Given the description of an element on the screen output the (x, y) to click on. 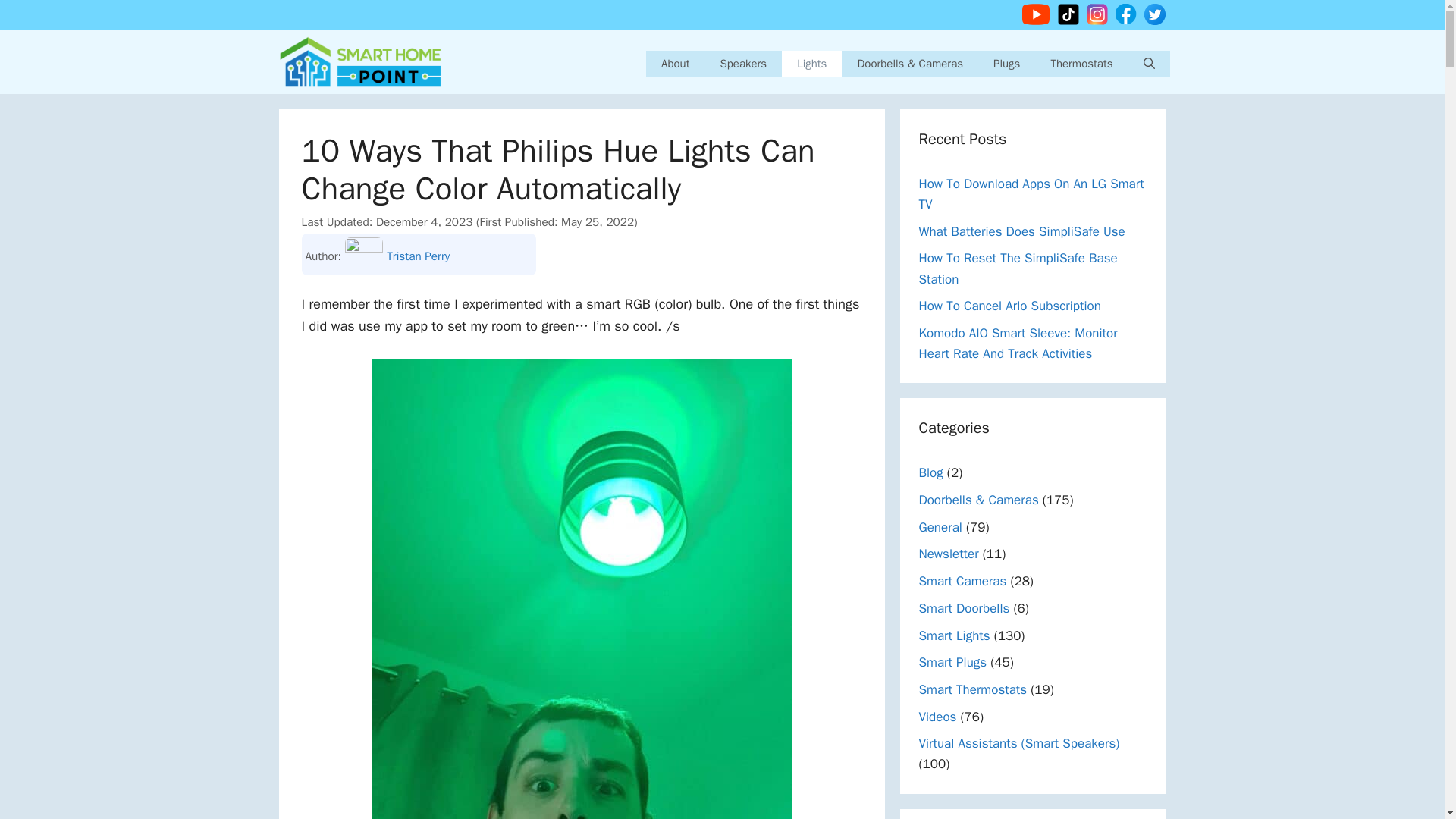
Twitter (1155, 14)
TikTok (1068, 14)
About (675, 63)
View all posts by Tristan Perry (422, 256)
Email Tristan Perry (517, 255)
Tristan Perry (422, 256)
Facebook (1126, 14)
View all posts by Tristan Perry (363, 256)
View Twitter profile for Tristan (468, 255)
Lights (811, 63)
